Given the description of an element on the screen output the (x, y) to click on. 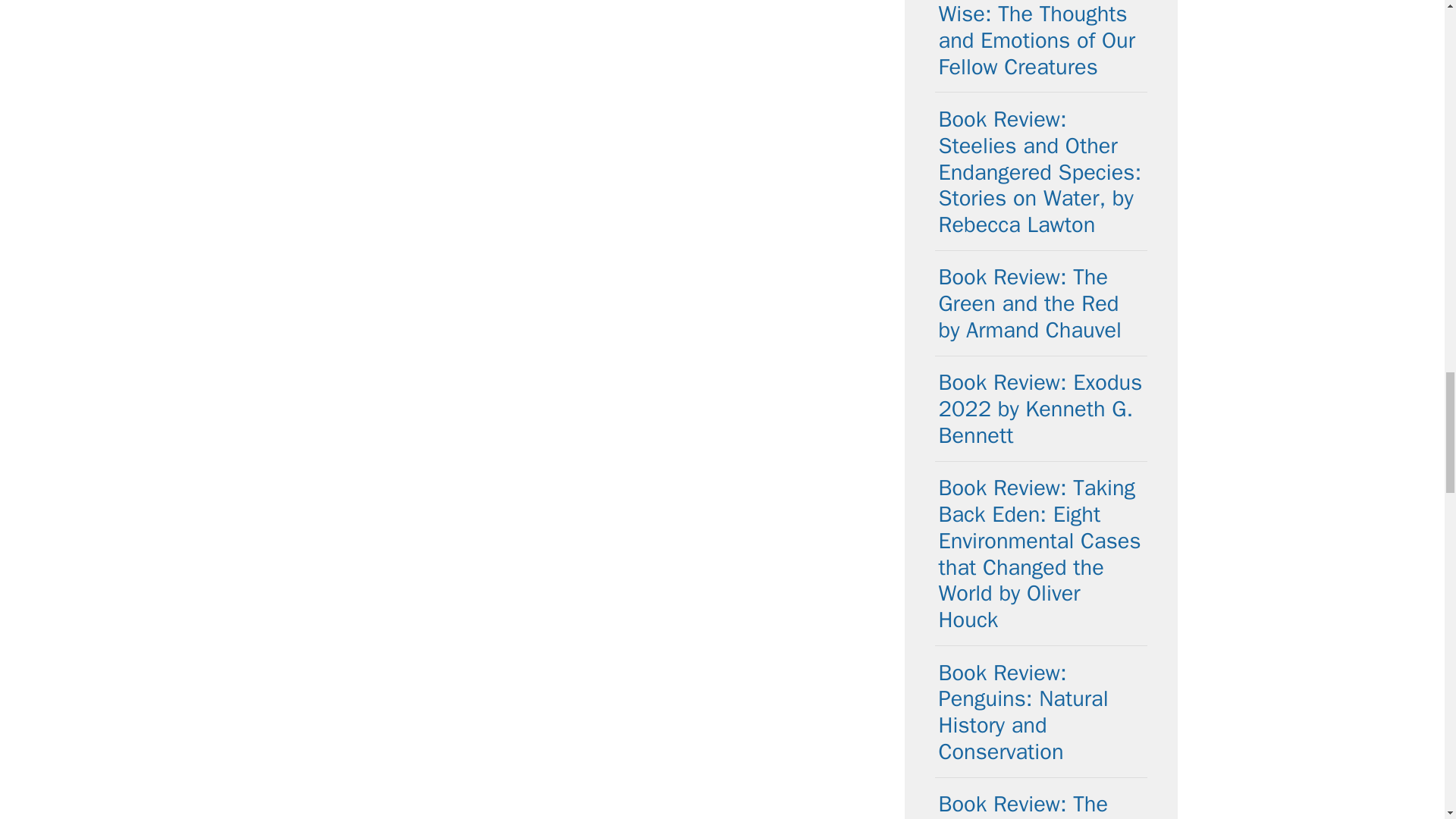
Book Review: The Lorax by Dr. Seuss (1029, 804)
Book Review: The Green and the Red by Armand Chauvel (1030, 302)
Book Review: Penguins: Natural History and Conservation (1023, 712)
Book Review: Exodus 2022 by Kenneth G. Bennett (1040, 408)
